Given the description of an element on the screen output the (x, y) to click on. 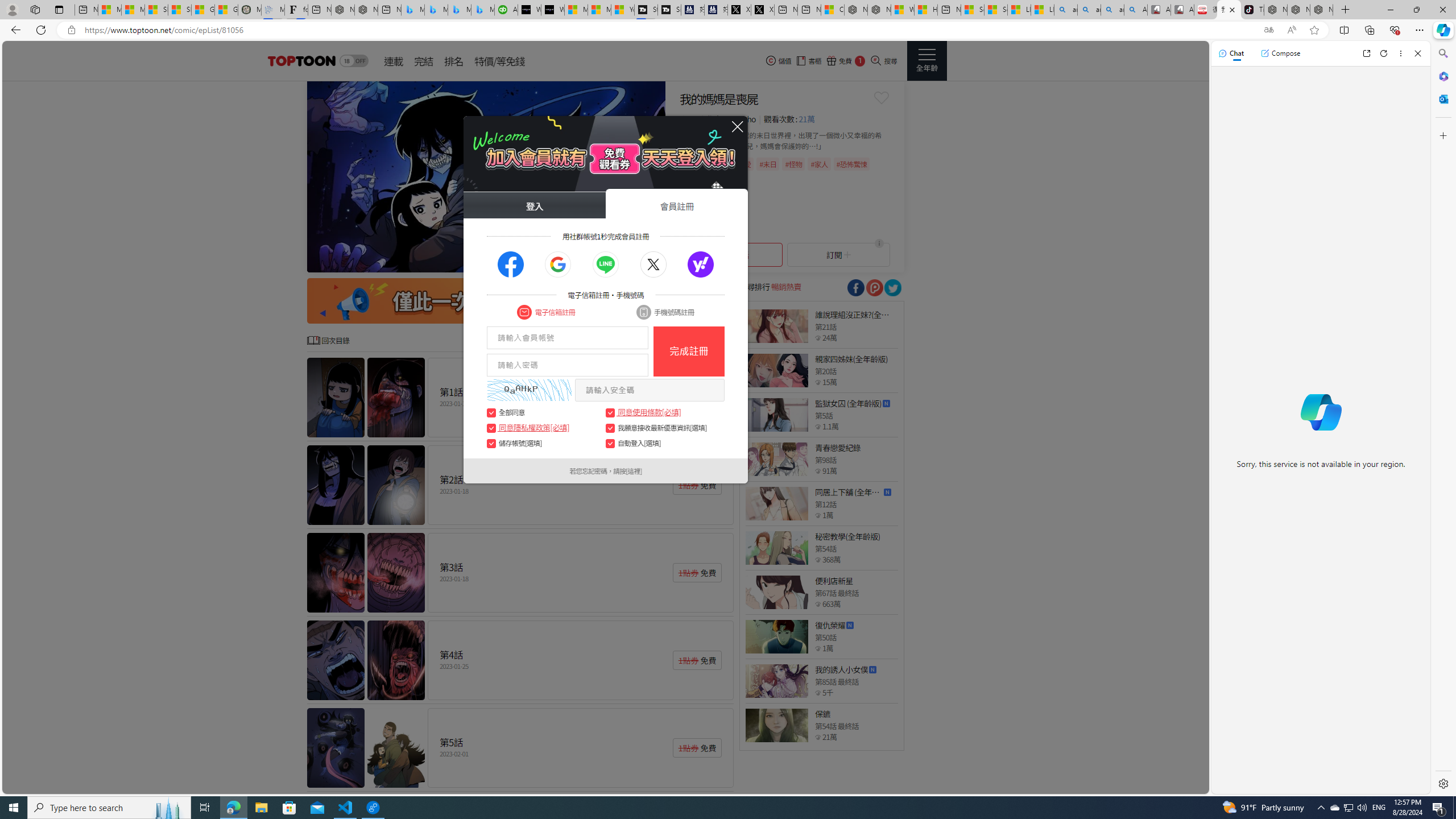
amazon - Search Images (1112, 9)
